Given the description of an element on the screen output the (x, y) to click on. 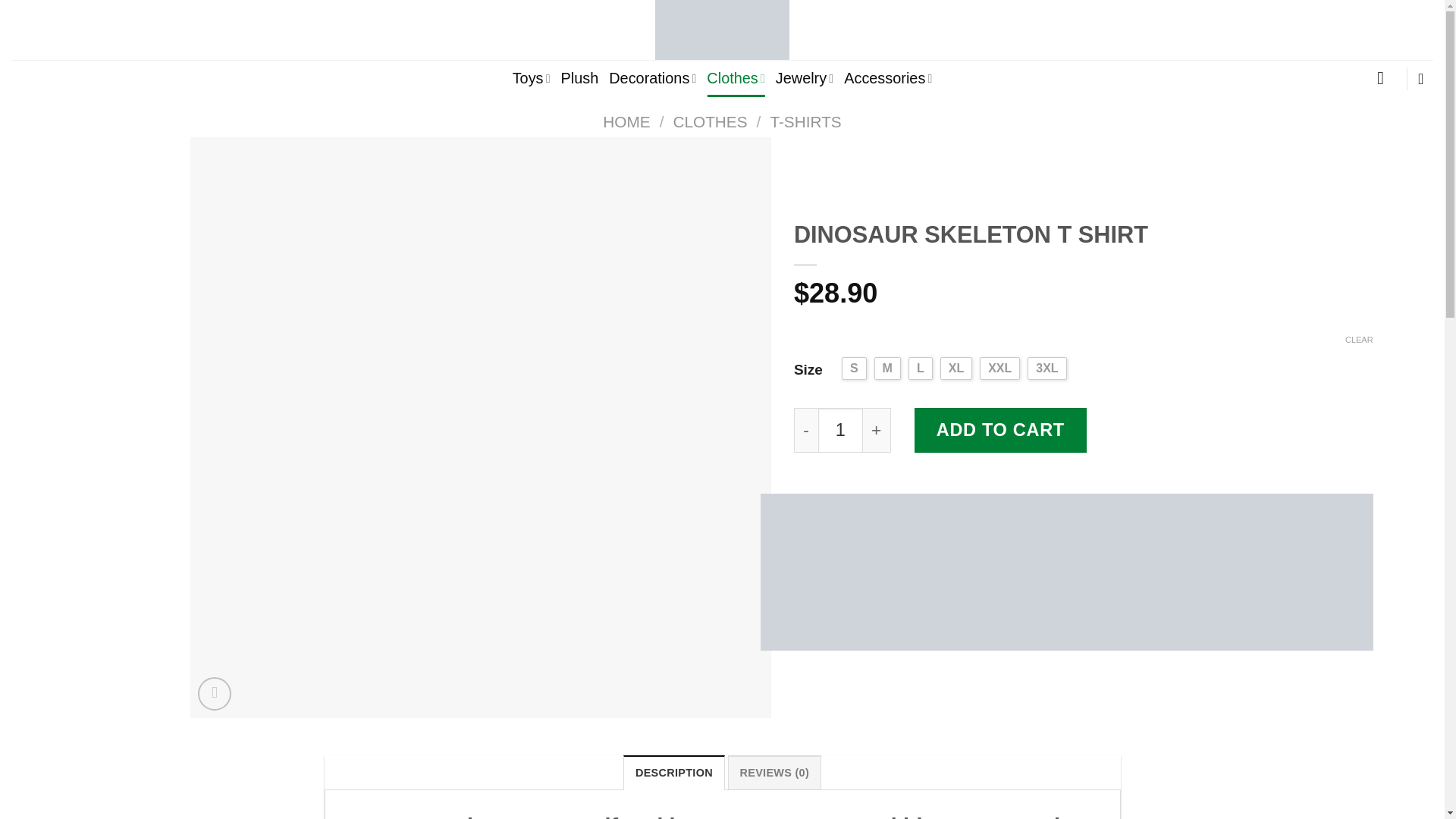
Clothes (735, 78)
Dinosaur Universe (721, 29)
Plush (579, 78)
T-SHIRTS (805, 121)
Accessories (887, 78)
CLOTHES (709, 121)
Jewelry (804, 78)
Zoom (214, 693)
1 (840, 429)
HOME (625, 121)
Decorations (651, 78)
Toys (531, 78)
